Given the description of an element on the screen output the (x, y) to click on. 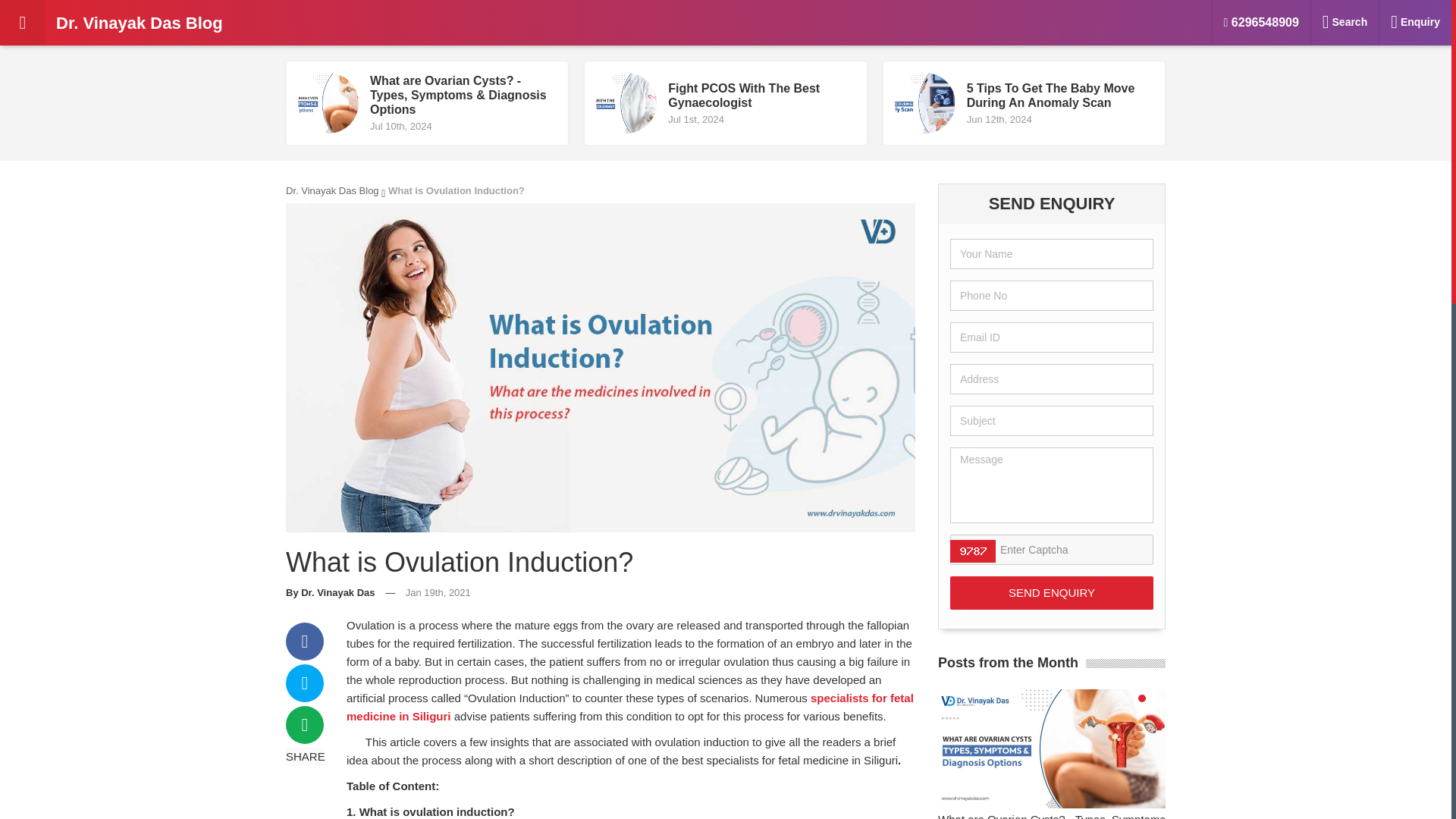
Dr. Vinayak Das Blog (161, 23)
By Dr. Vinayak Das (330, 592)
Dr. Vinayak Das Blog (331, 190)
6296548909 (1261, 22)
SEND ENQUIRY (1051, 592)
SEND ENQUIRY (1051, 592)
specialists for fetal medicine in Siliguri (630, 706)
What is Ovulation Induction? (725, 102)
